Given the description of an element on the screen output the (x, y) to click on. 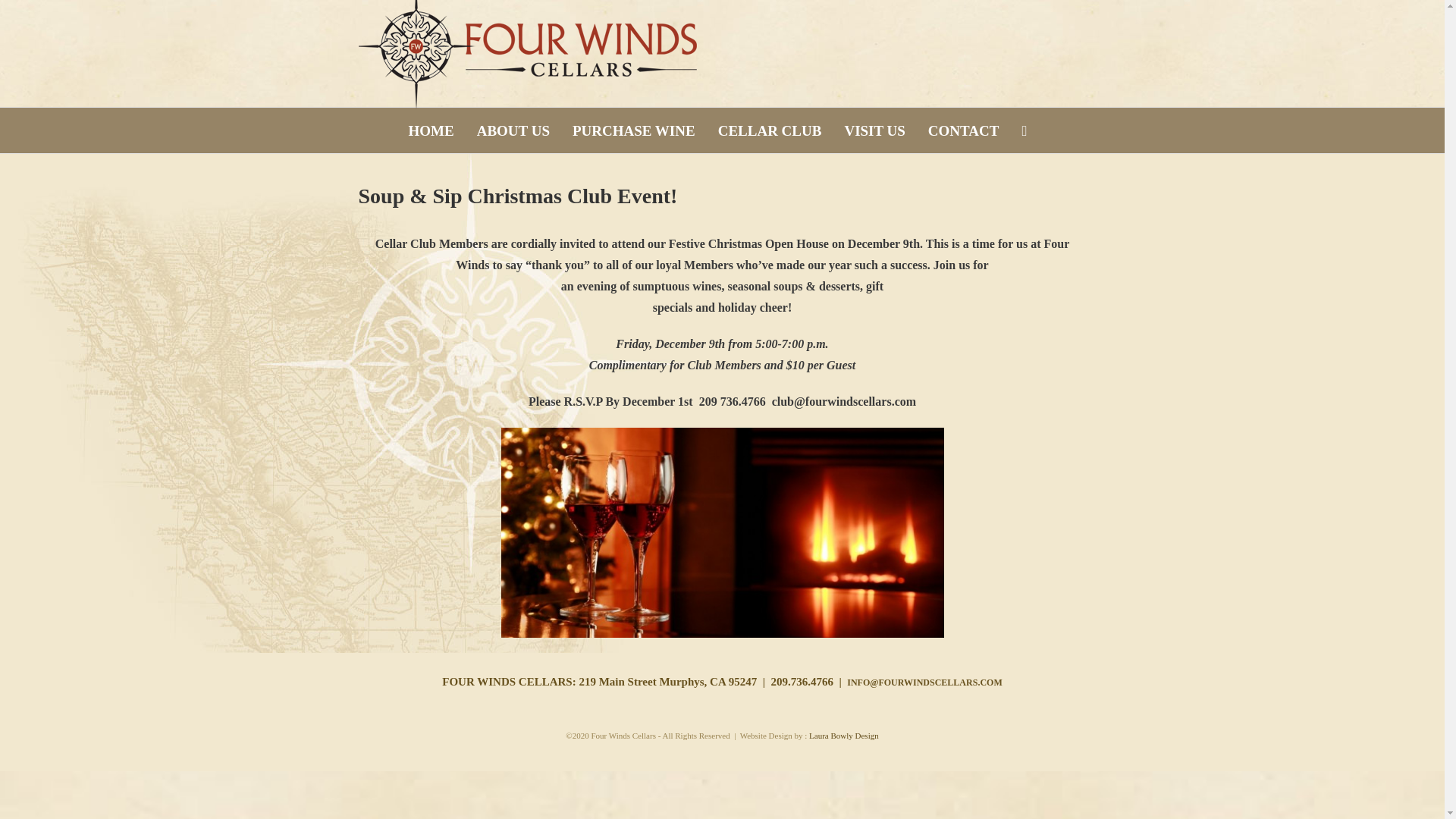
VISIT US (873, 130)
ABOUT US (512, 130)
HOME (431, 130)
PURCHASE WINE (633, 130)
CONTACT (963, 130)
Laura Bowly Design (844, 735)
CELLAR CLUB (769, 130)
